Given the description of an element on the screen output the (x, y) to click on. 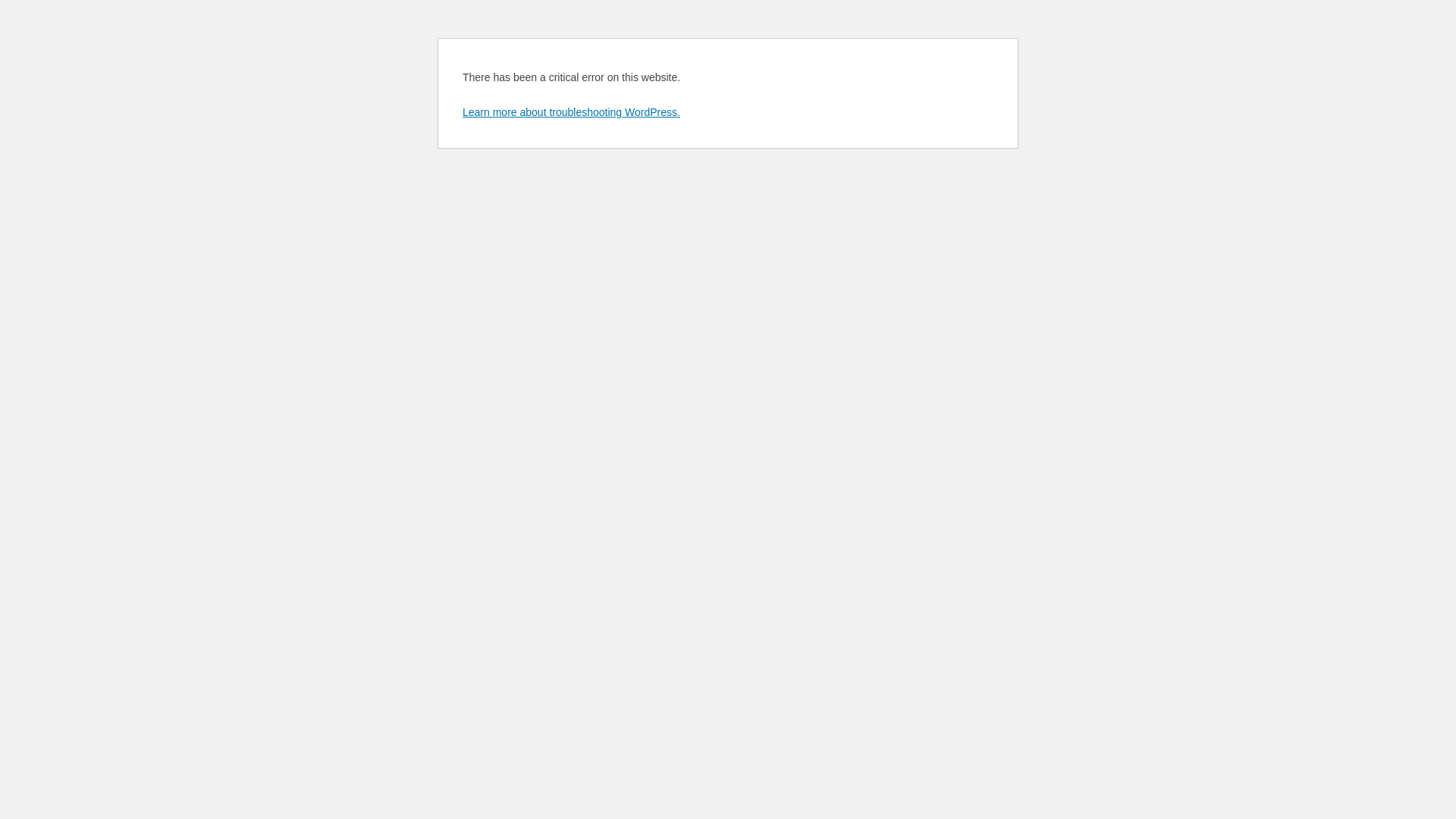
Learn more about troubleshooting WordPress. Element type: text (571, 112)
